Given the description of an element on the screen output the (x, y) to click on. 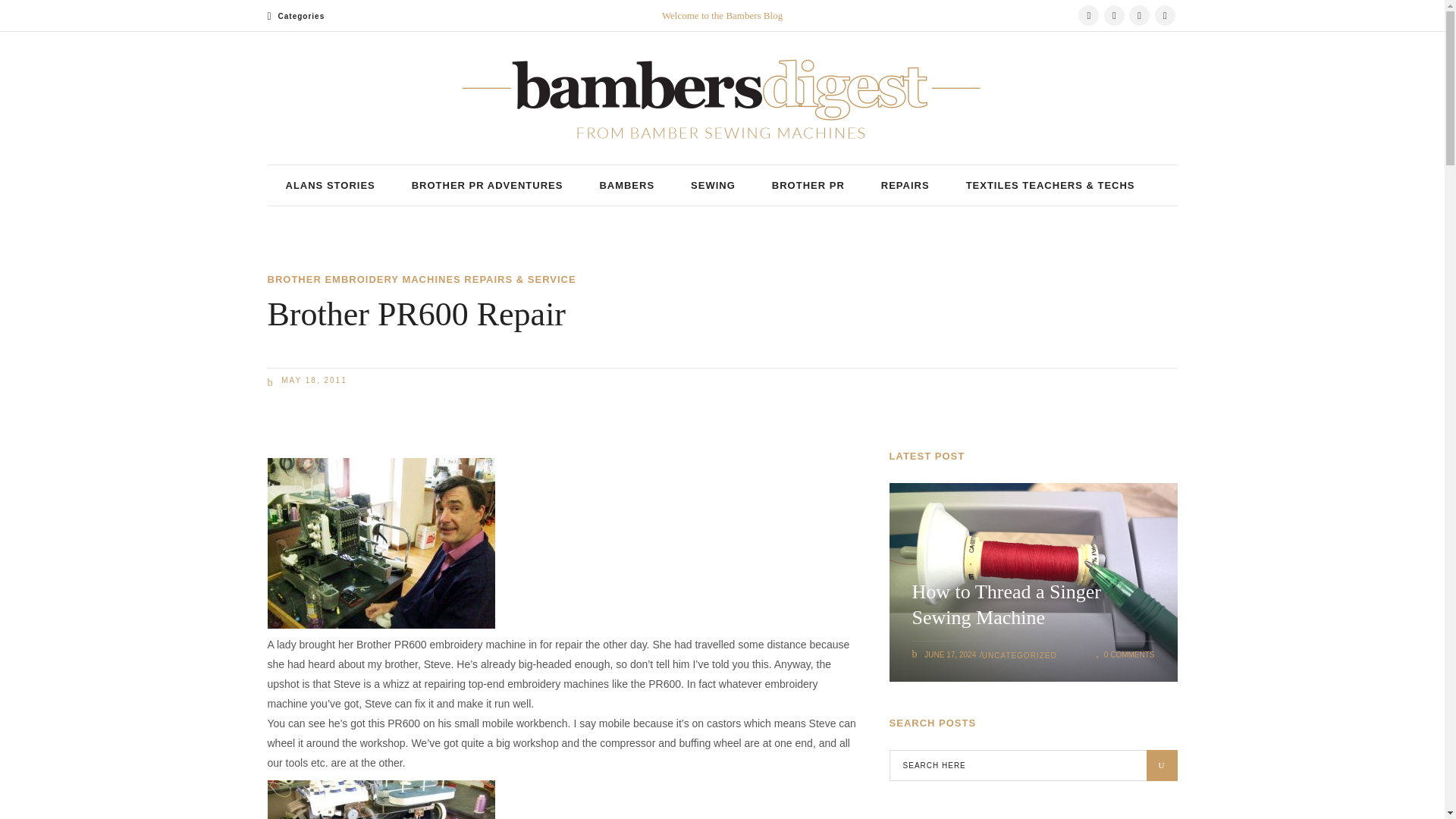
U (1162, 765)
Categories (295, 16)
Brother PR600 repair (380, 542)
PR600 stripped for repair (380, 799)
U (1162, 765)
